Given the description of an element on the screen output the (x, y) to click on. 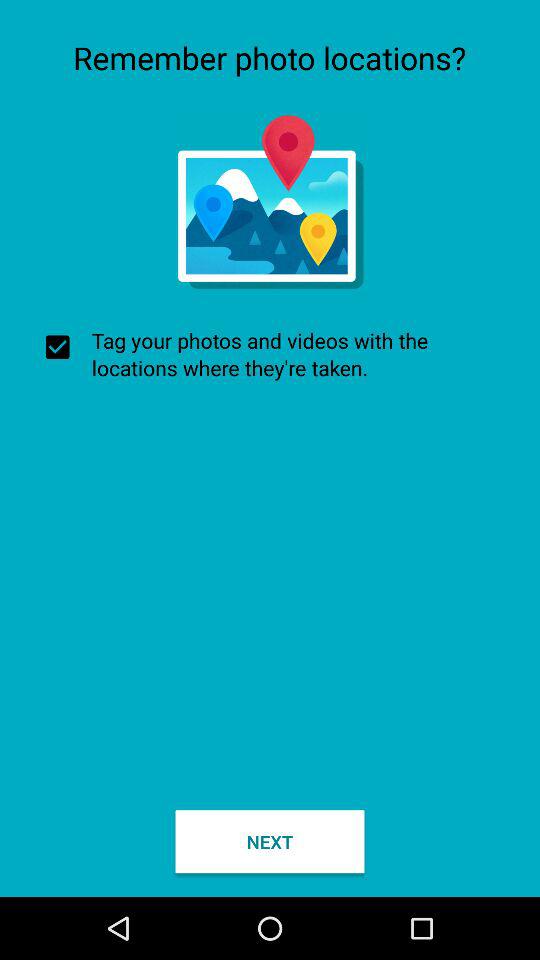
tap icon above next (269, 354)
